Given the description of an element on the screen output the (x, y) to click on. 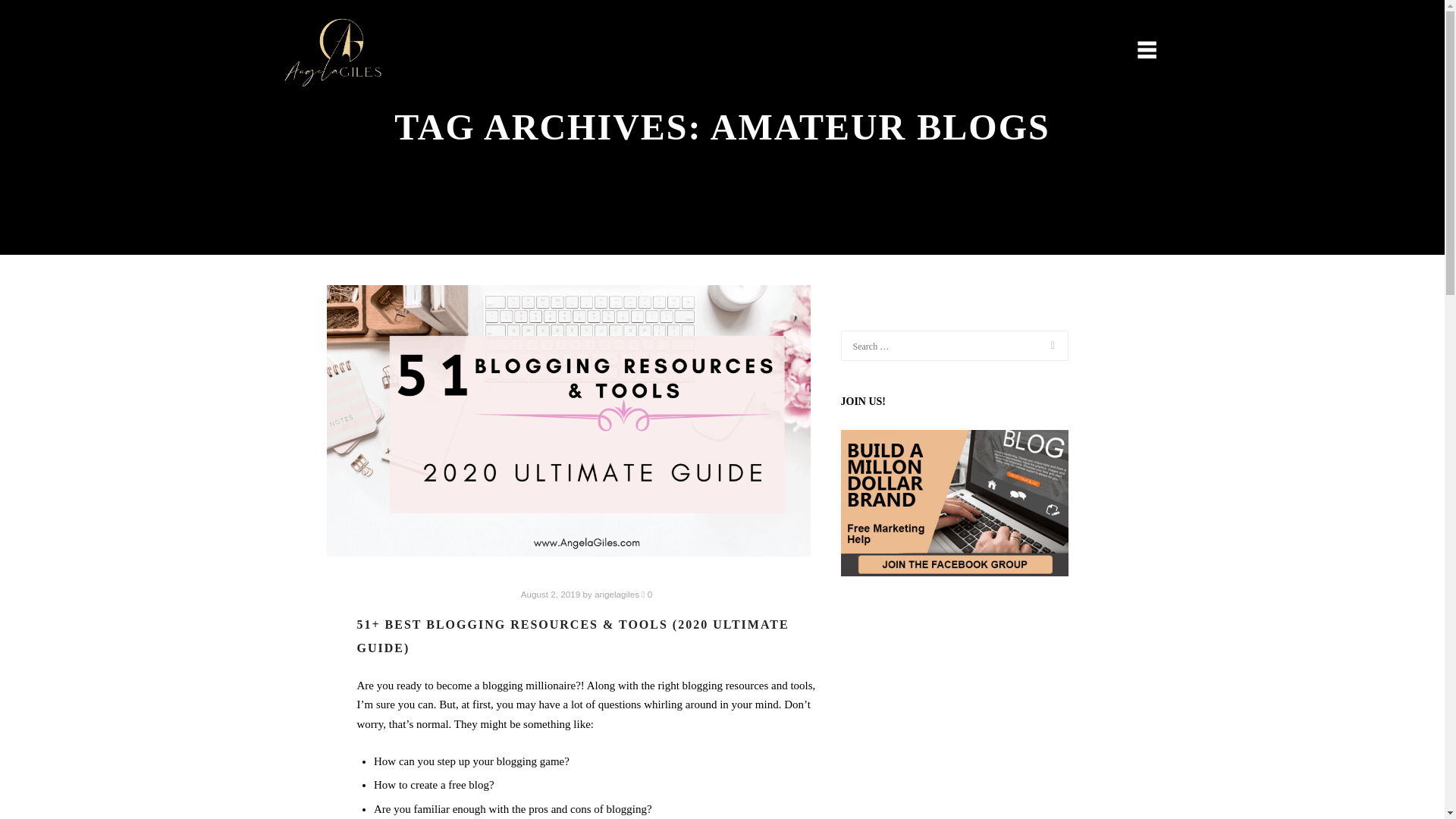
Angela Giles (333, 51)
0 (647, 593)
Search (1044, 345)
More info (1137, 51)
View all posts by angelagiles (616, 593)
JOIN US! (953, 502)
angelagiles (616, 593)
More info (1137, 51)
